Given the description of an element on the screen output the (x, y) to click on. 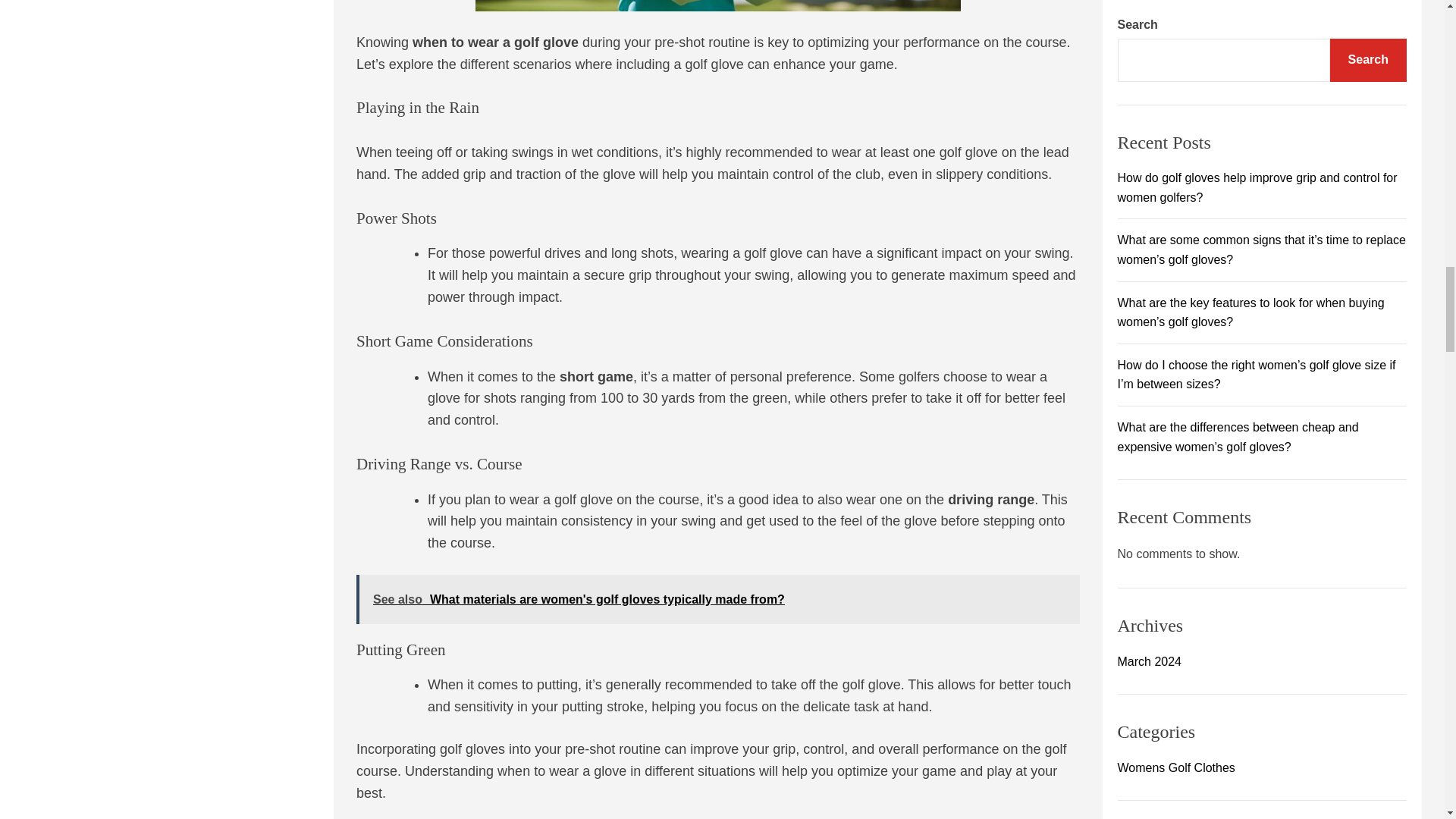
when to wear a golf glove (718, 5)
